Given the description of an element on the screen output the (x, y) to click on. 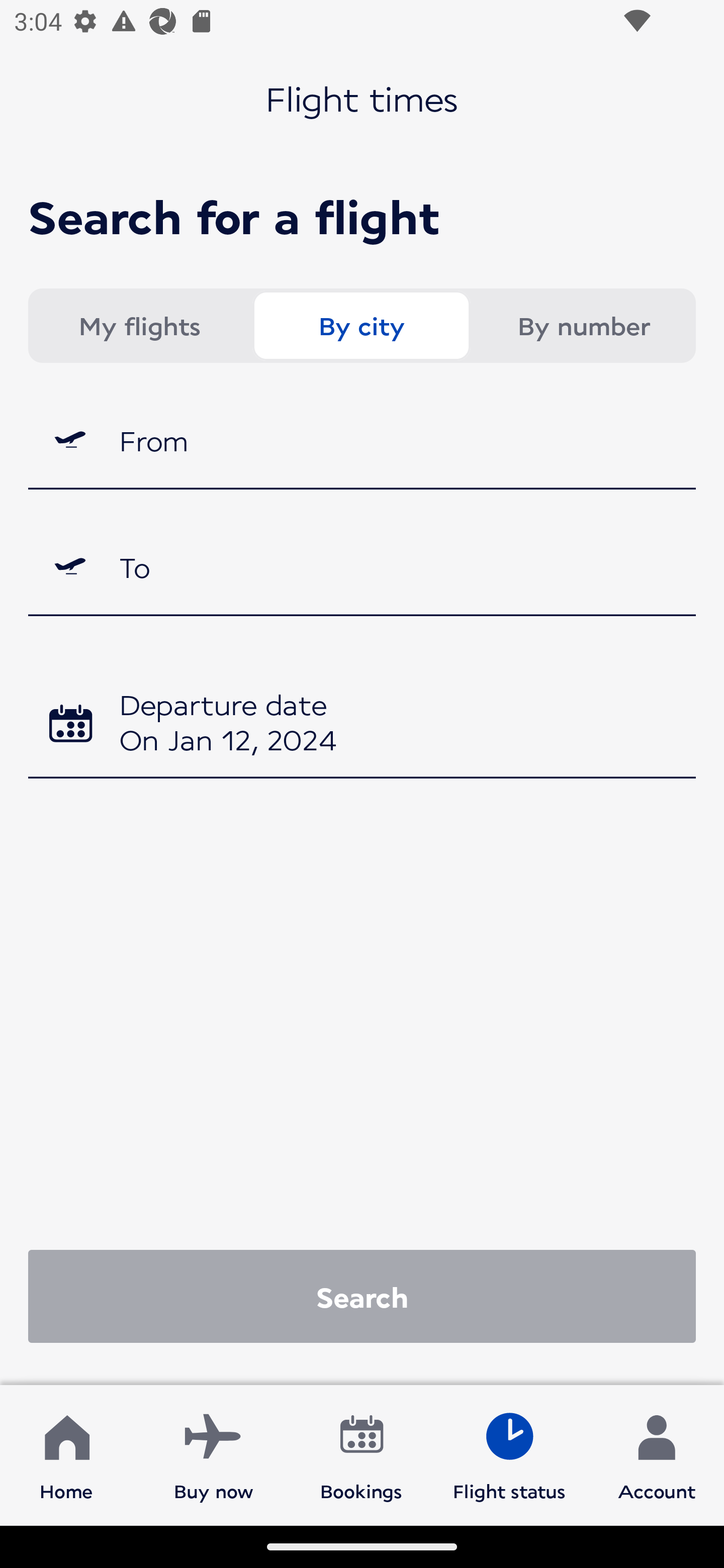
My flights (139, 325)
By city (361, 325)
By number (583, 325)
From (361, 439)
To (361, 566)
On Jan 12, 2024 Departure date (361, 724)
Search (361, 1295)
Home (66, 1454)
Buy now (213, 1454)
Bookings (361, 1454)
Account (657, 1454)
